Given the description of an element on the screen output the (x, y) to click on. 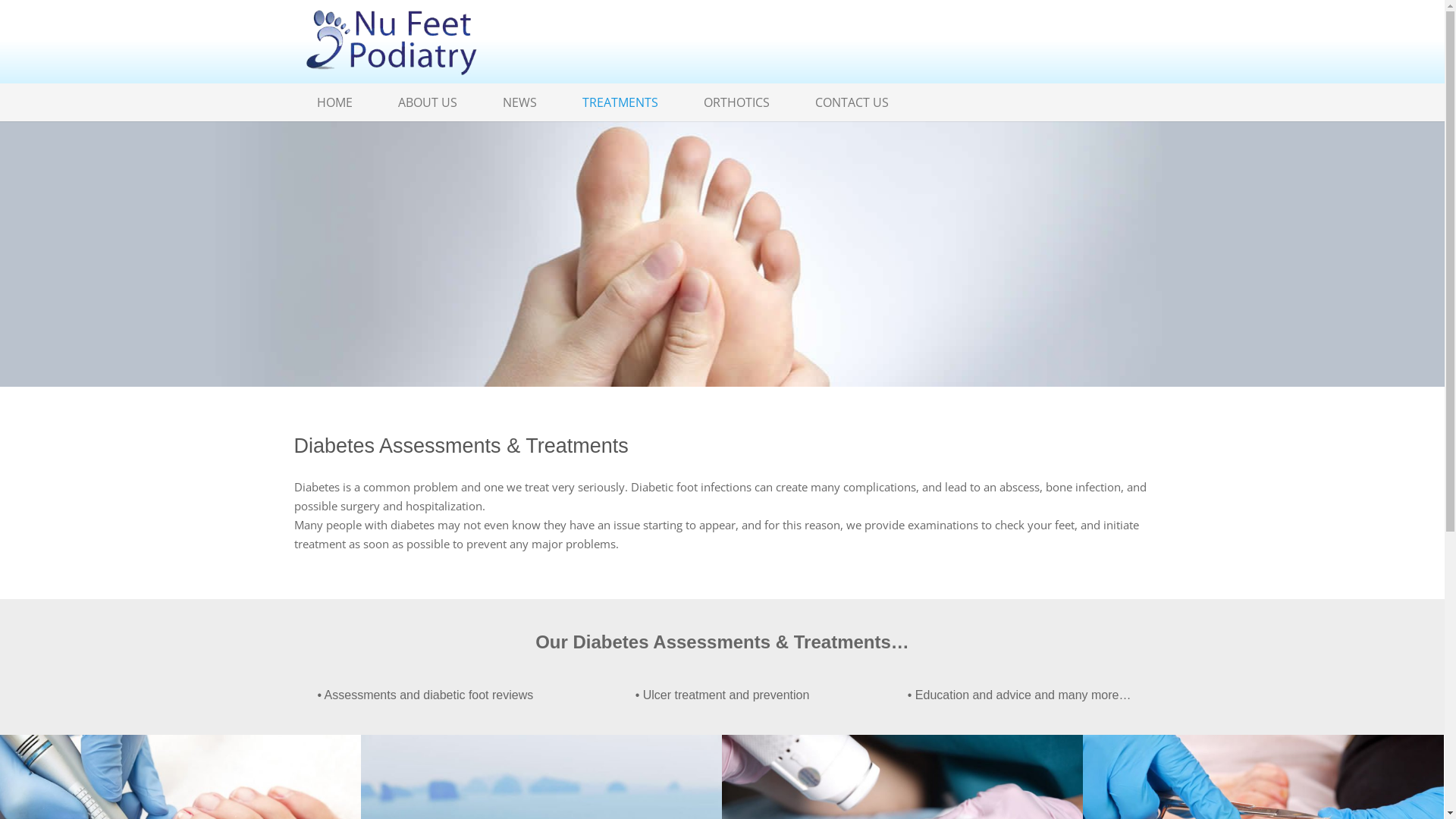
NEWS Element type: text (518, 102)
TREATMENTS Element type: text (619, 102)
ABOUT US Element type: text (426, 102)
CONTACT US Element type: text (850, 102)
ORTHOTICS Element type: text (736, 102)
HOME Element type: text (334, 102)
